Given the description of an element on the screen output the (x, y) to click on. 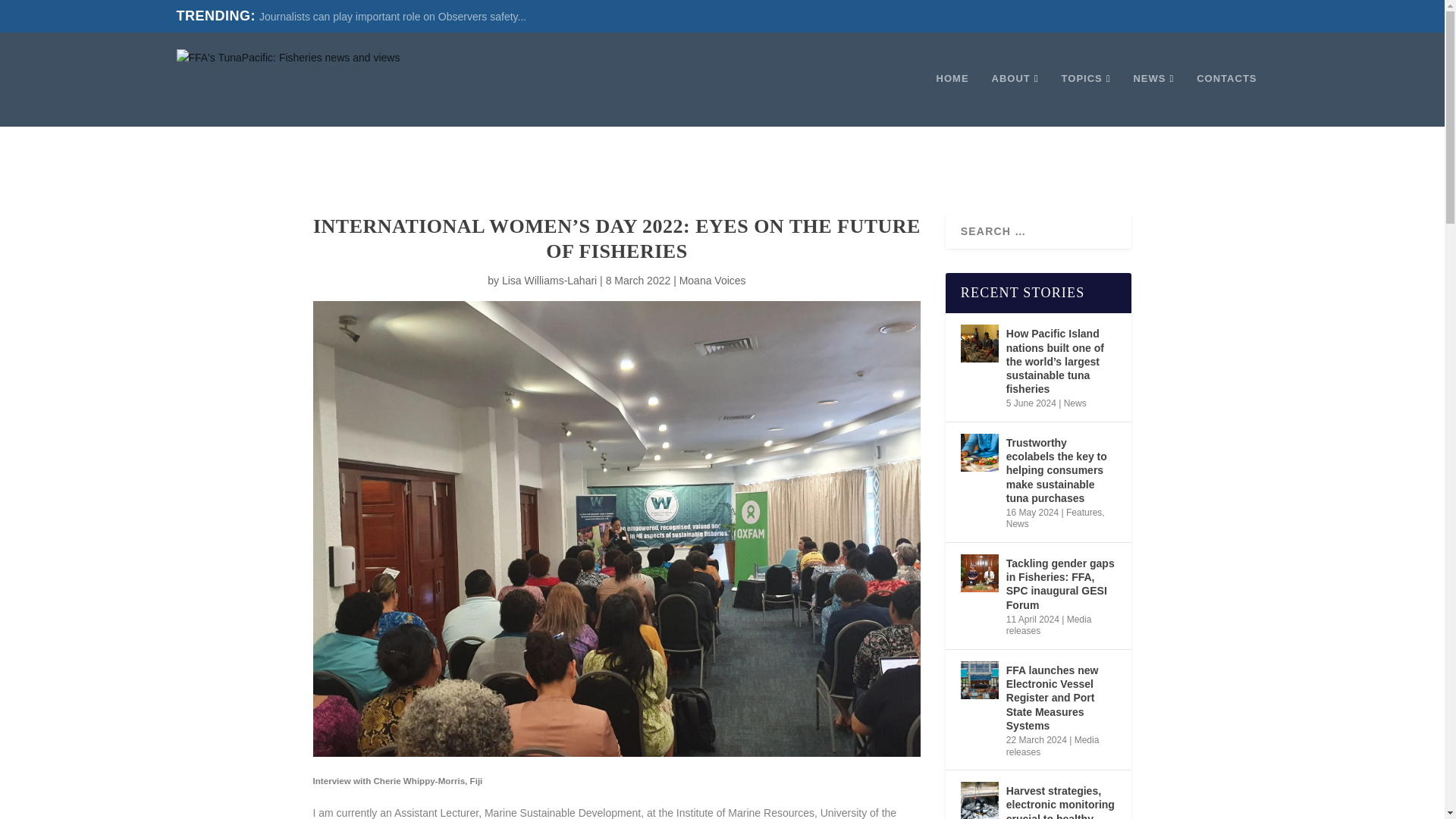
Journalists can play important role on Observers safety... (392, 16)
TOPICS (1085, 99)
